Given the description of an element on the screen output the (x, y) to click on. 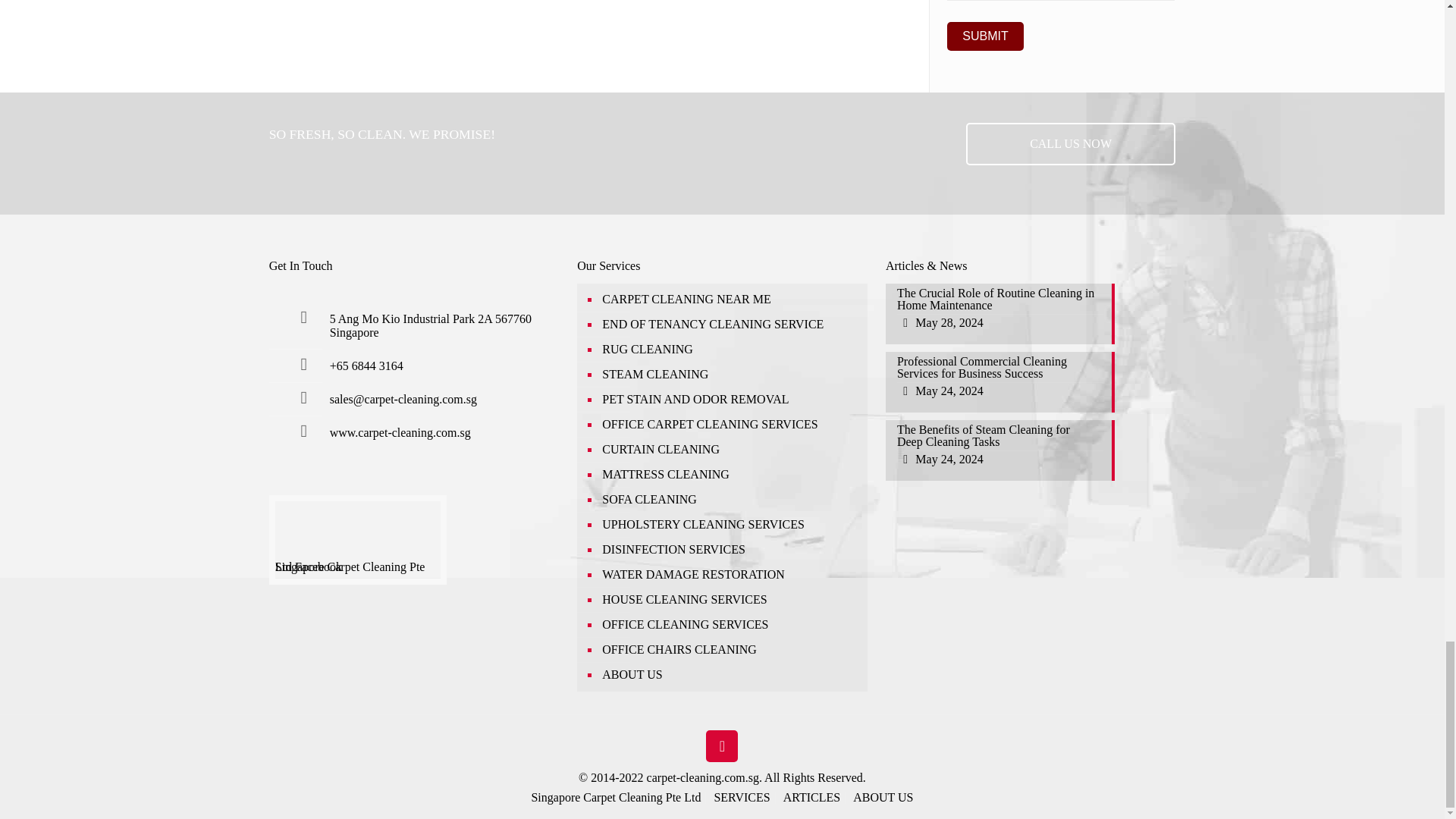
SUBMIT (985, 36)
